Given the description of an element on the screen output the (x, y) to click on. 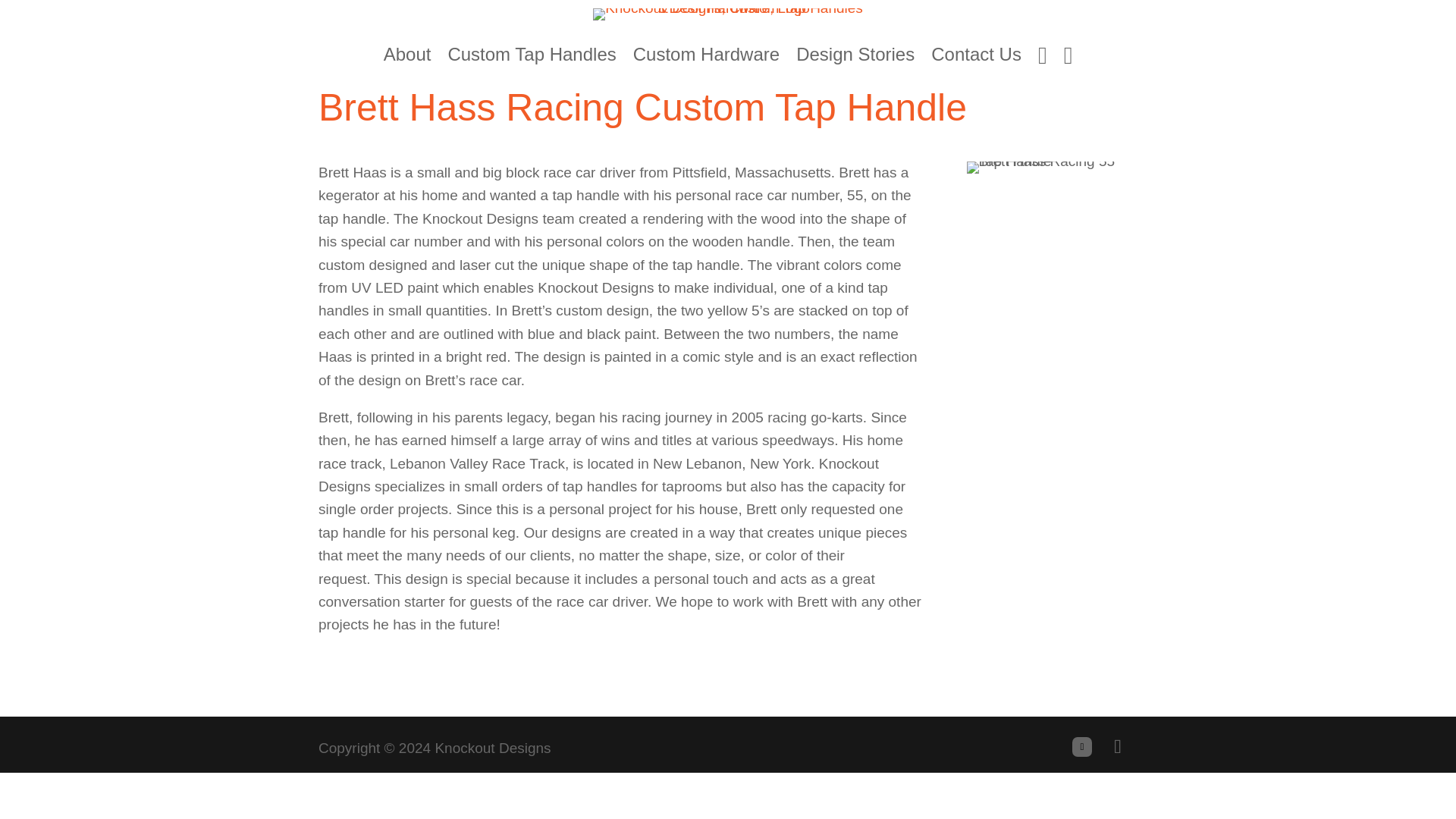
Follow on Facebook (1081, 746)
Design Stories (855, 61)
About (407, 61)
Follow on Instagram (1117, 746)
Custom Hardware (705, 61)
Contact Us (976, 61)
Custom Tap Handles (530, 61)
